Given the description of an element on the screen output the (x, y) to click on. 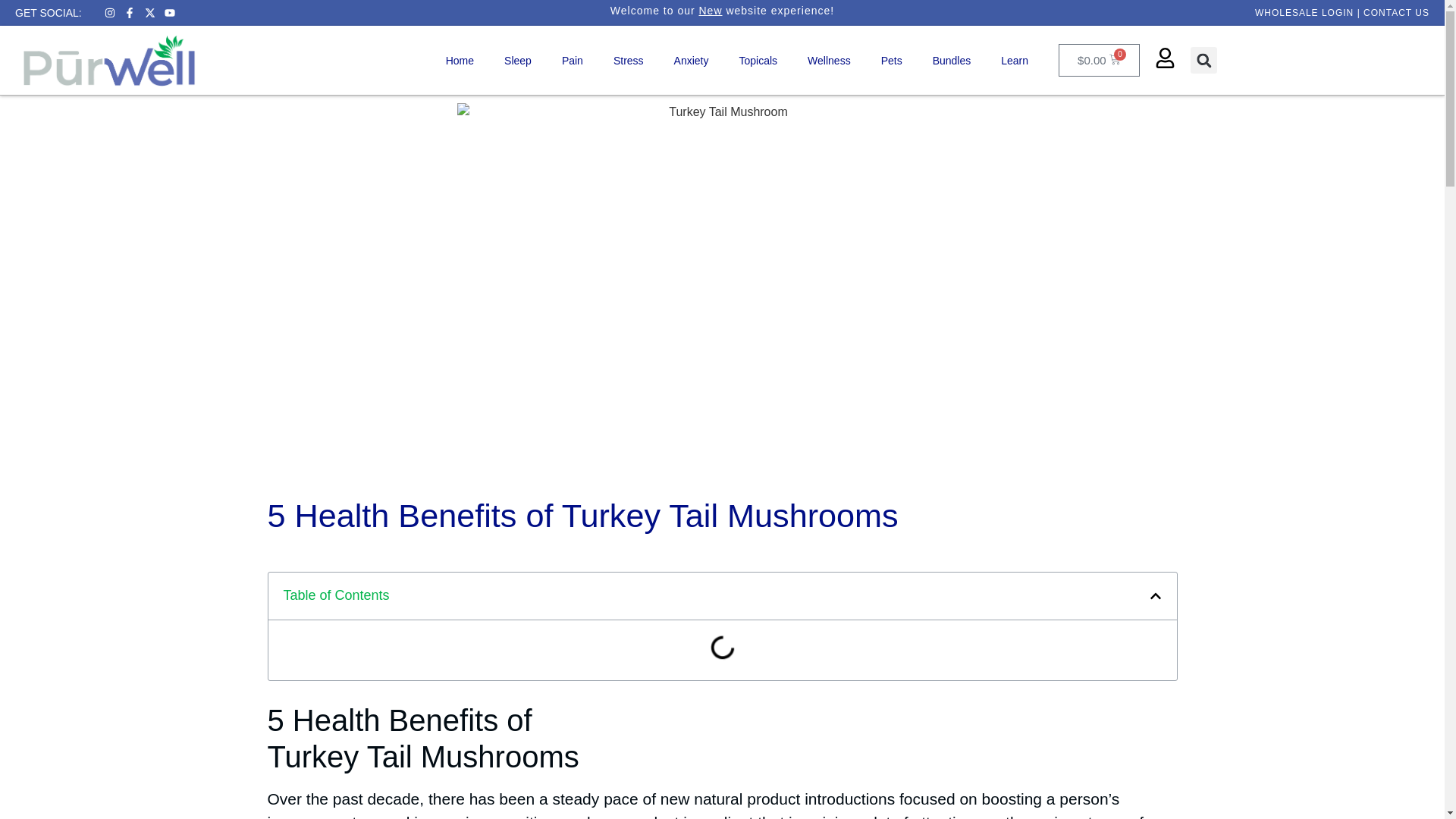
Wellness (829, 60)
Anxiety (691, 60)
Stress (628, 60)
Sleep (518, 60)
WHOLESALE LOGIN (1304, 12)
CONTACT US (1395, 12)
Home (459, 60)
Topicals (758, 60)
Pain (572, 60)
Bundles (952, 60)
